Given the description of an element on the screen output the (x, y) to click on. 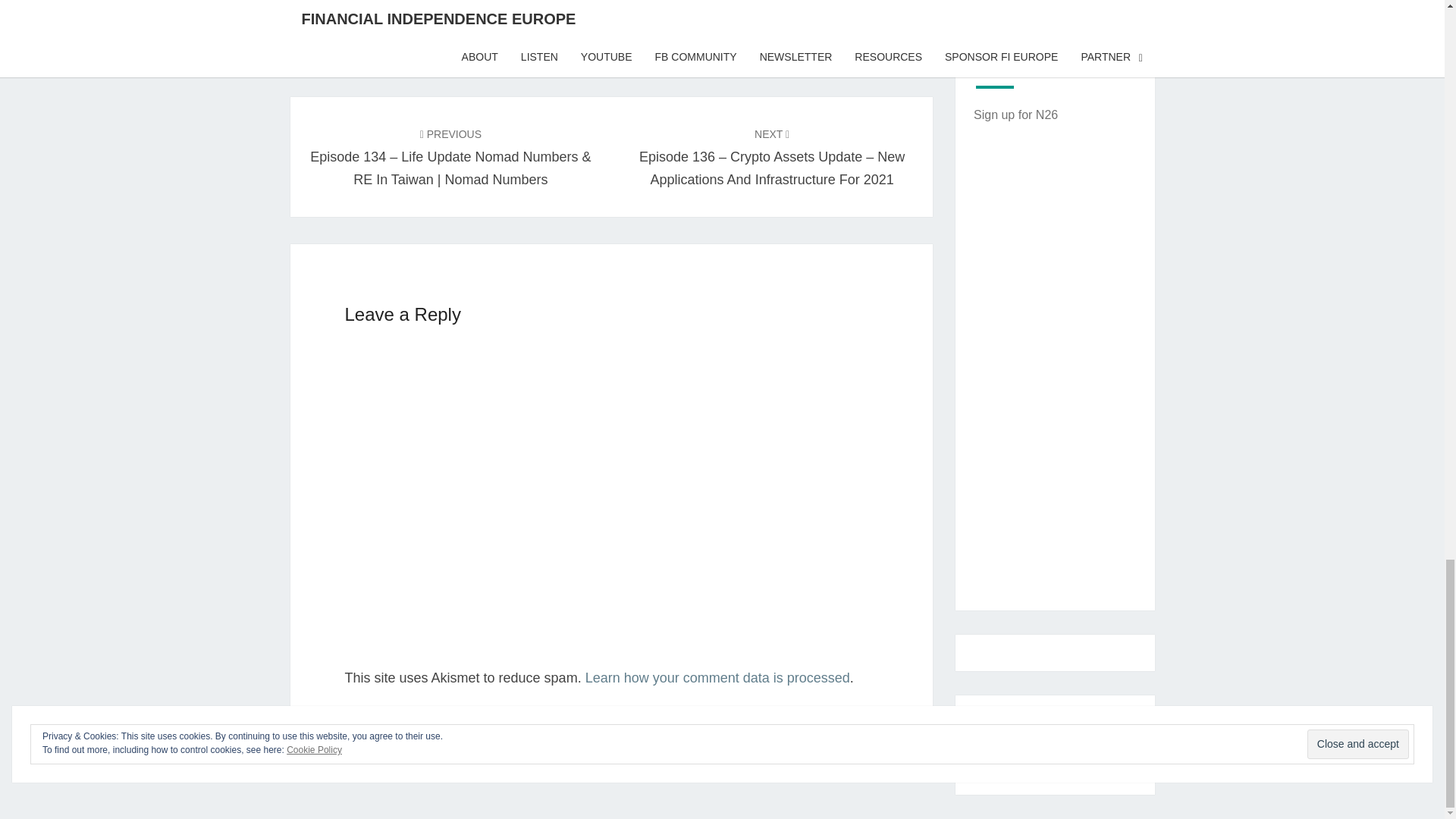
Latvia (432, 23)
Sign of for N26 Europe (1016, 114)
Episode (379, 23)
Podcast (486, 23)
Learn how your comment data is processed (717, 677)
